Given the description of an element on the screen output the (x, y) to click on. 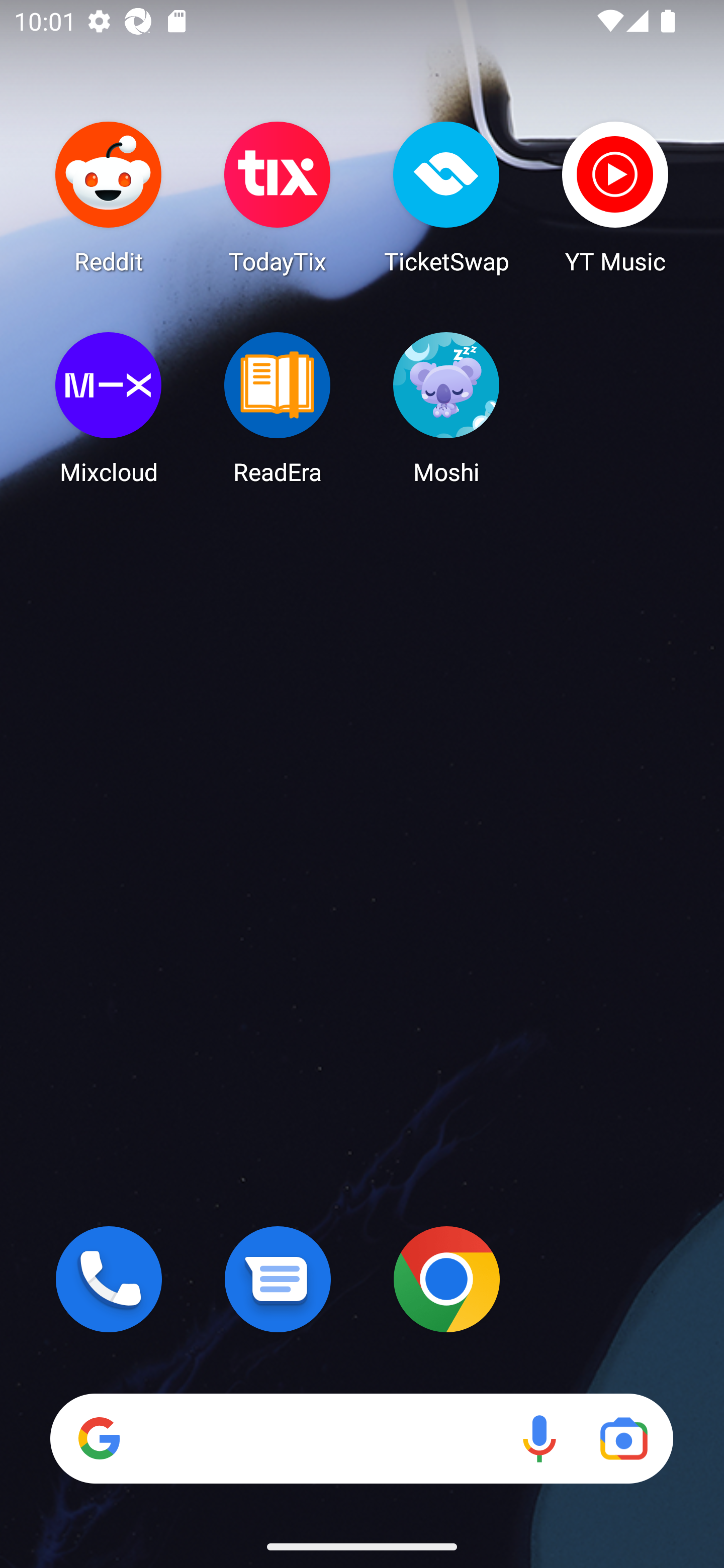
Reddit (108, 196)
TodayTix (277, 196)
TicketSwap (445, 196)
YT Music (615, 196)
Mixcloud (108, 407)
ReadEra (277, 407)
Moshi (445, 407)
Phone (108, 1279)
Messages (277, 1279)
Chrome (446, 1279)
Search Voice search Google Lens (361, 1438)
Voice search (539, 1438)
Google Lens (623, 1438)
